Given the description of an element on the screen output the (x, y) to click on. 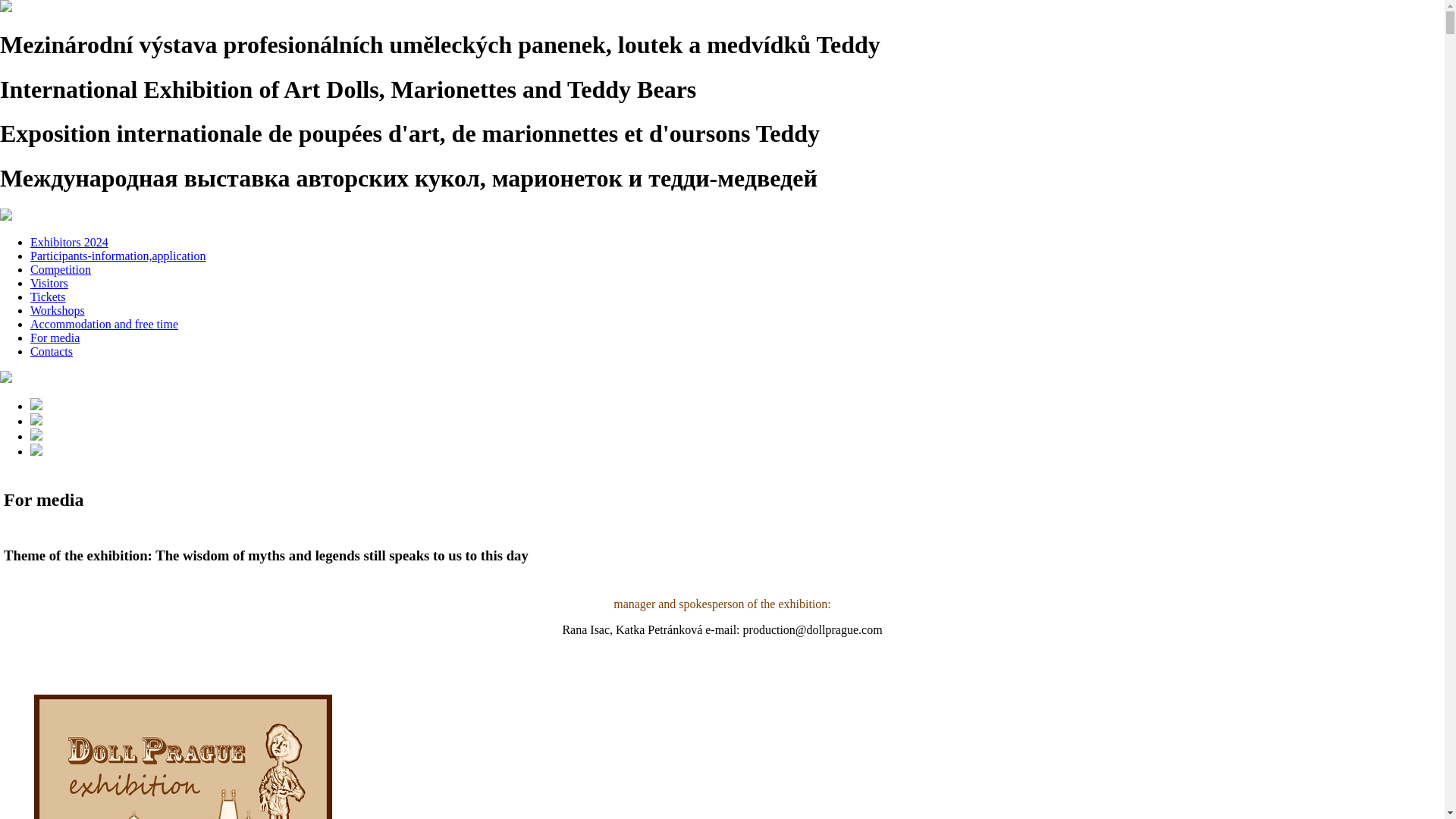
Exhibitors 2024 (68, 241)
For media (55, 337)
Workshops (57, 309)
Contacts (51, 350)
Competition (60, 269)
Participants-information,application (118, 255)
Visitors (49, 282)
Tickets (47, 296)
Accommodation and free time (103, 323)
